Given the description of an element on the screen output the (x, y) to click on. 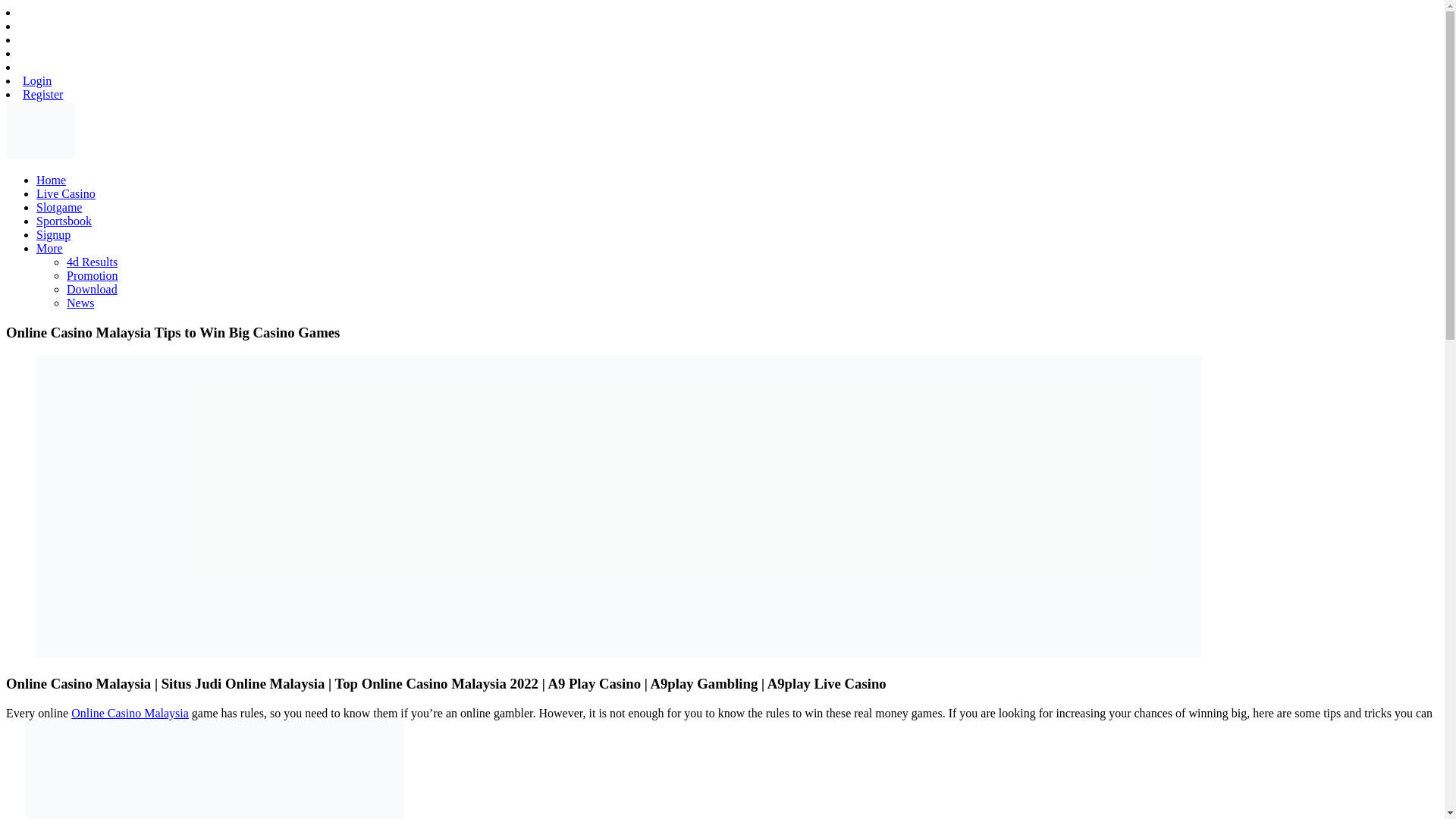
Slotgame (58, 206)
More (49, 247)
4d Results (91, 261)
News (80, 302)
Login (36, 80)
Online Casino Malaysia (130, 712)
Register (42, 93)
Promotion (91, 275)
Signup (52, 234)
Sportsbook (63, 220)
